Given the description of an element on the screen output the (x, y) to click on. 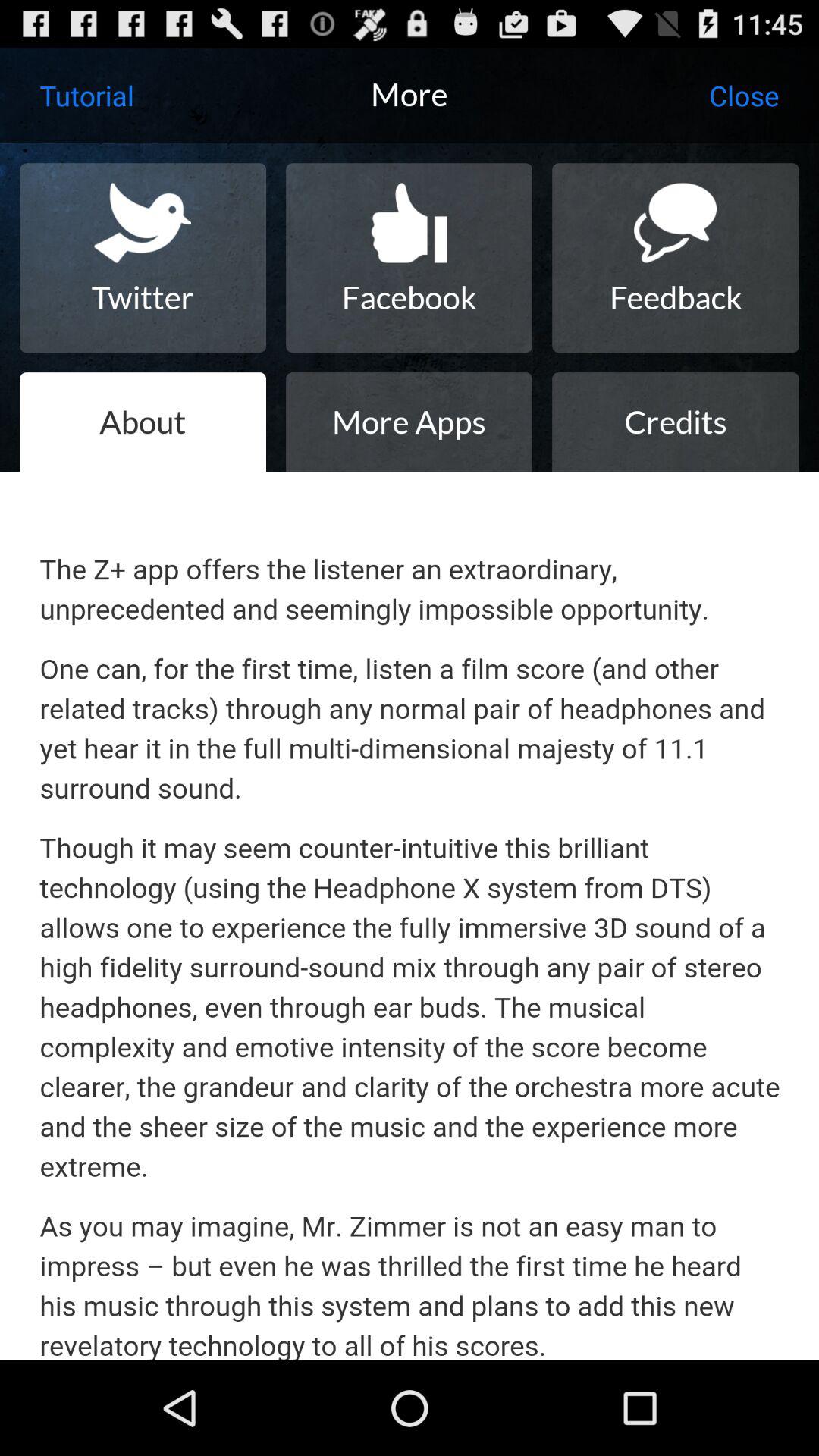
turn on the item to the left of credits icon (409, 422)
